Given the description of an element on the screen output the (x, y) to click on. 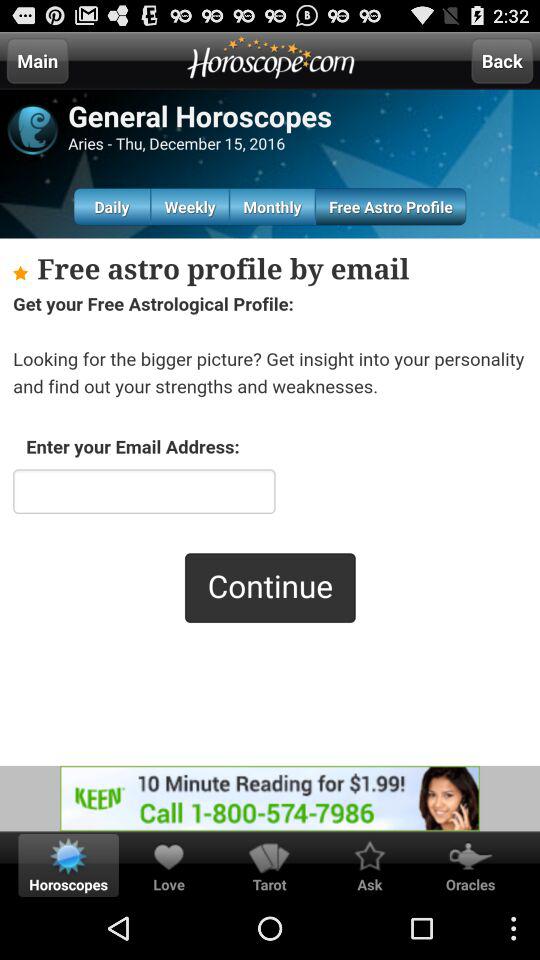
advertisement in the bottom (270, 798)
